Given the description of an element on the screen output the (x, y) to click on. 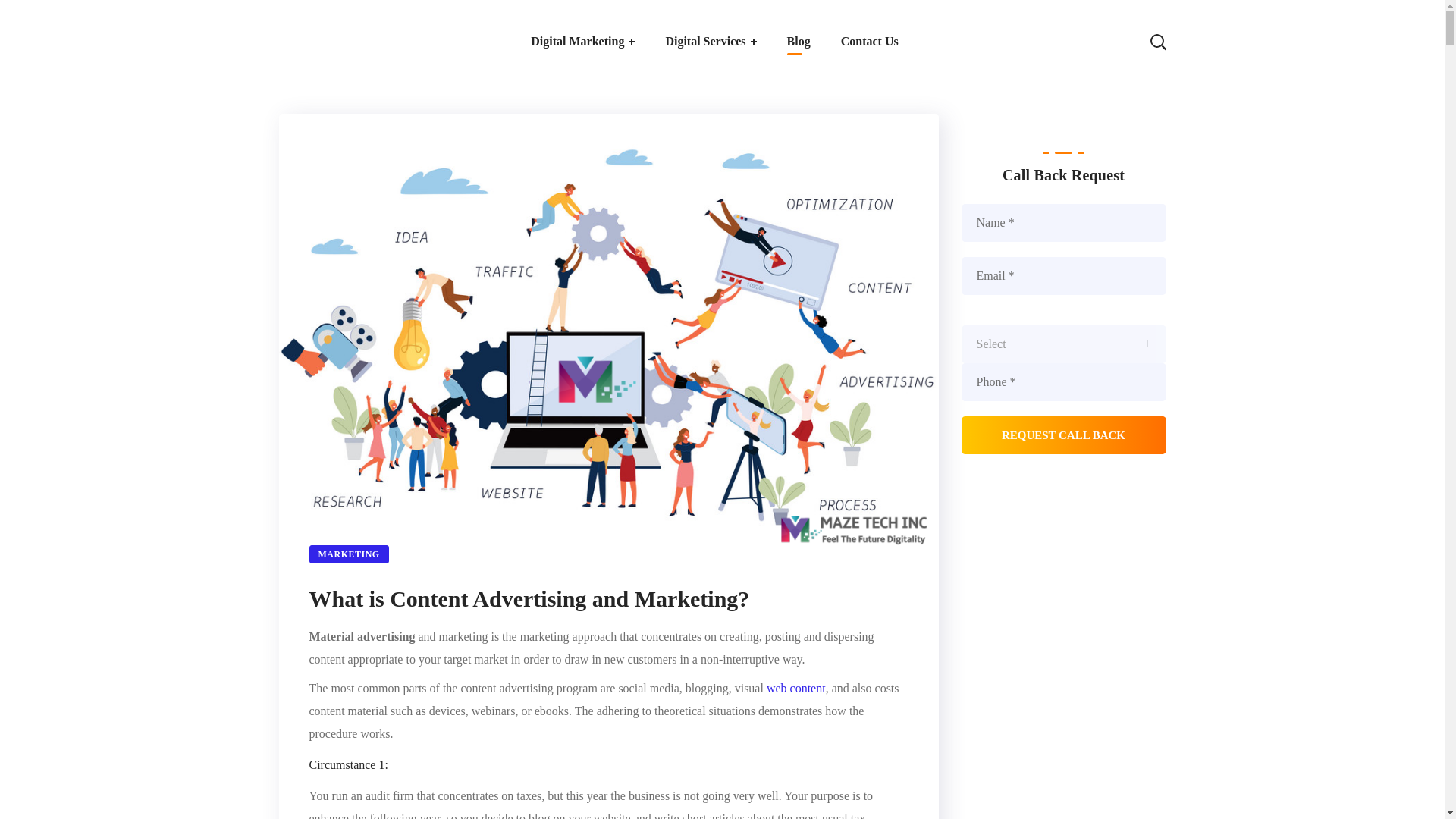
Request Call Back (1063, 435)
Digital Marketing (582, 41)
Search (1110, 113)
Digital Services (710, 41)
Contact Us (869, 41)
